Given the description of an element on the screen output the (x, y) to click on. 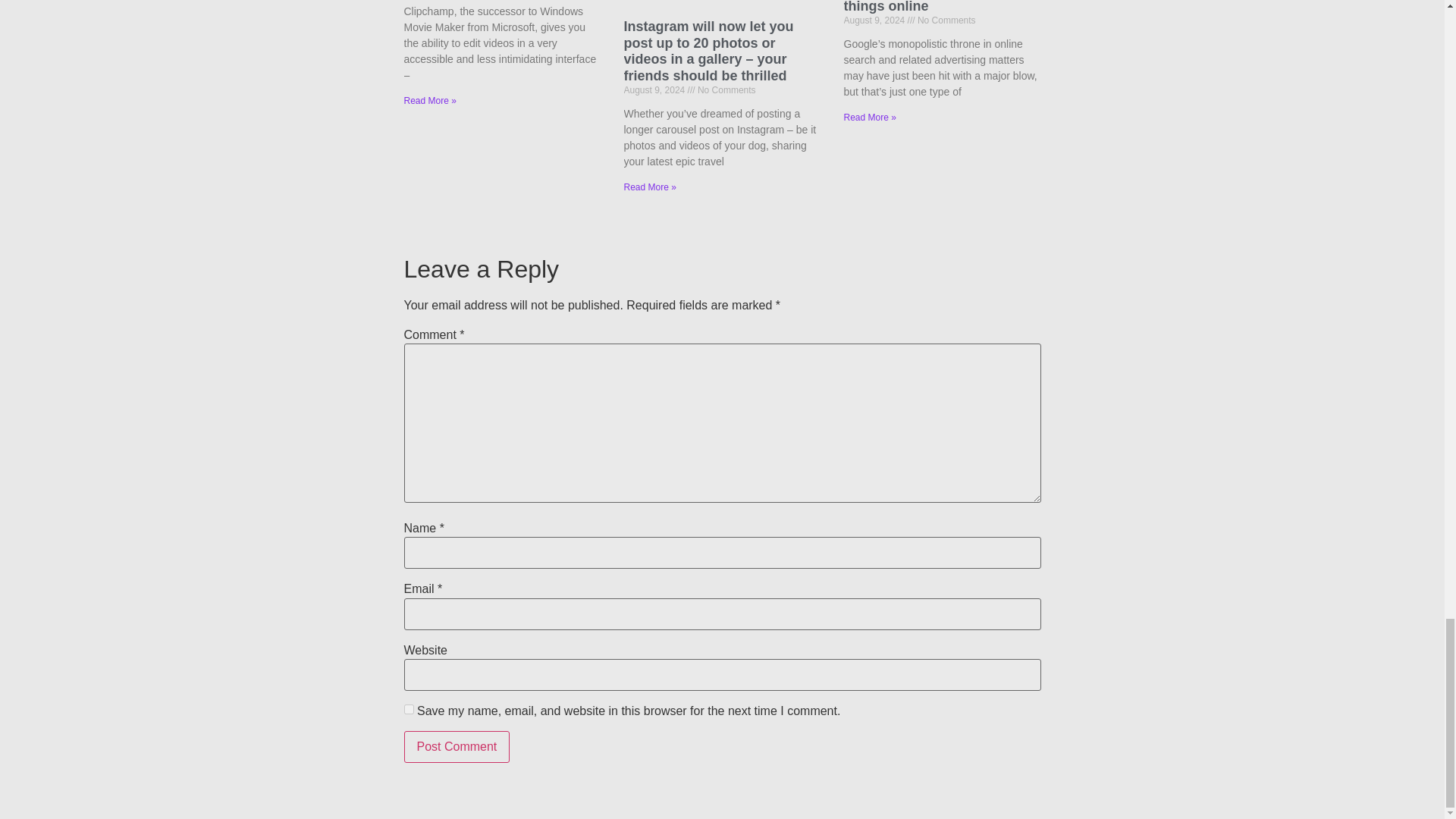
yes (408, 709)
Post Comment (456, 746)
Post Comment (456, 746)
